Given the description of an element on the screen output the (x, y) to click on. 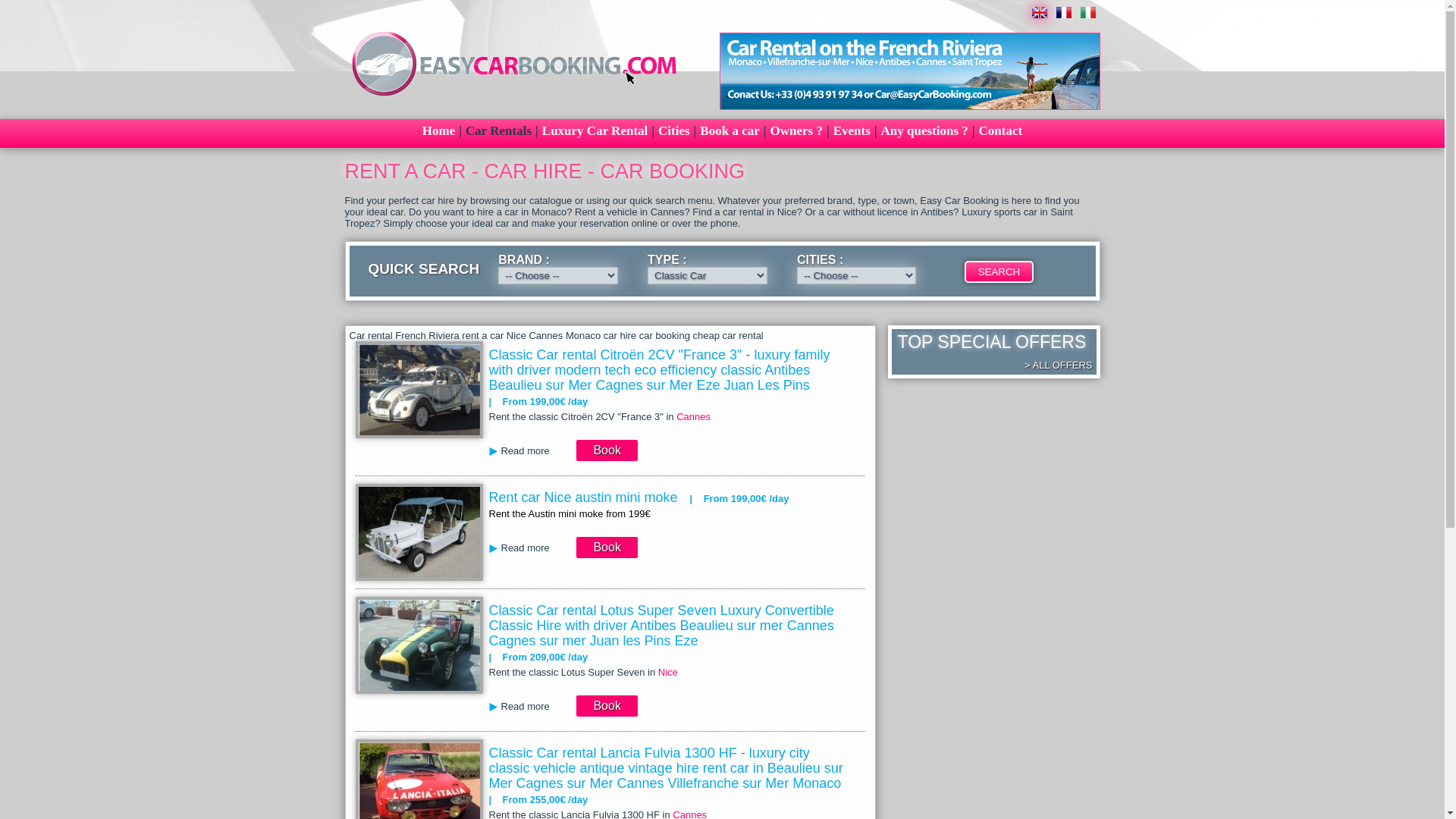
Cannes (693, 416)
Any questions ? (924, 130)
Car Rentals (498, 130)
Car Rentals (498, 130)
Cities (673, 130)
Events (852, 130)
Luxury Car Rental (594, 130)
Contact (1000, 130)
Read more (530, 450)
Any questions ? (924, 130)
Book (606, 547)
Nice (668, 672)
Luxury Car Rental (594, 130)
Read more (530, 547)
Book (606, 450)
